Given the description of an element on the screen output the (x, y) to click on. 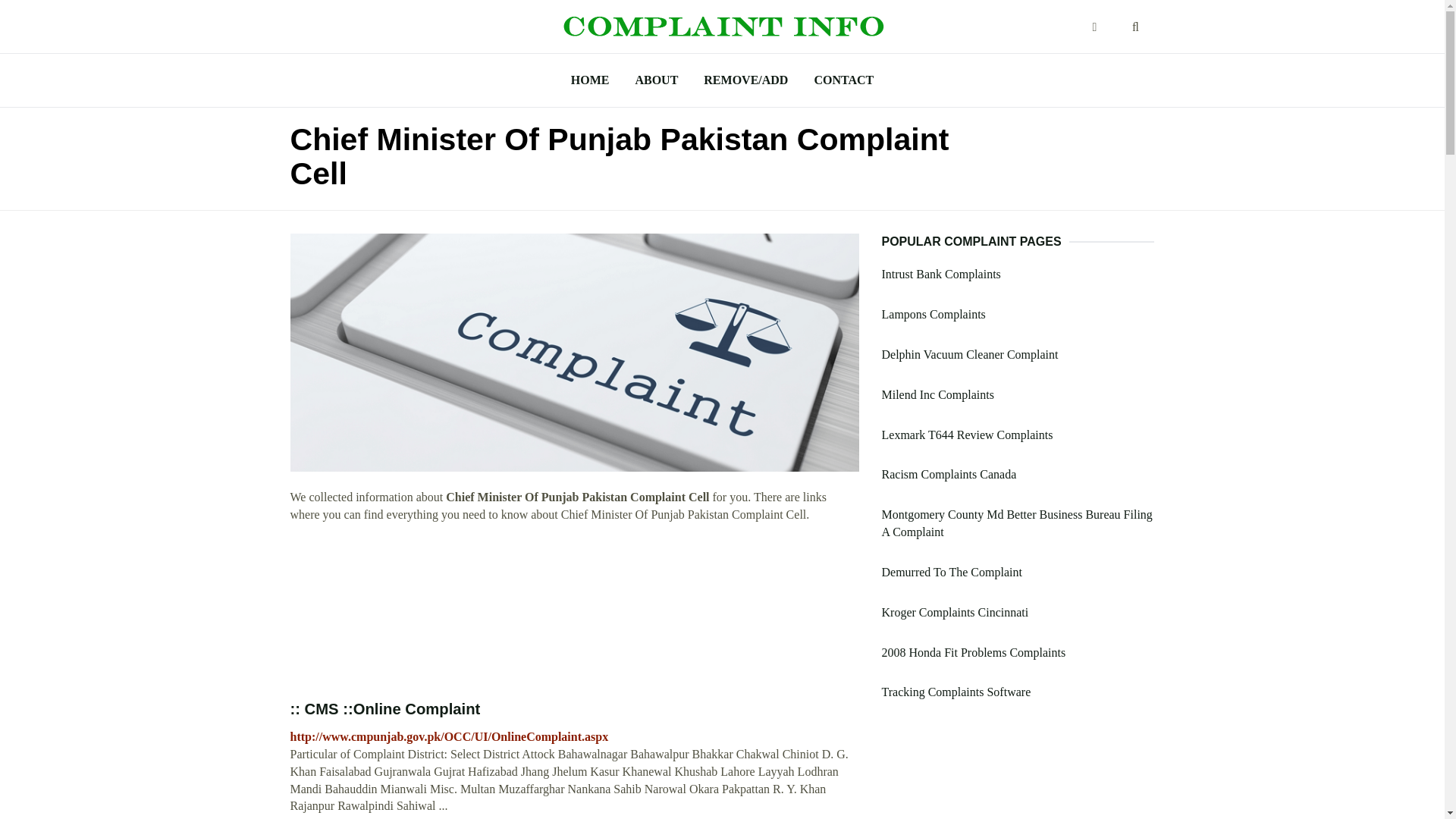
ABOUT (655, 80)
HOME (590, 80)
Advertisement (574, 611)
Advertisement (1017, 771)
:: CMS ::Online Complaint (384, 709)
CONTACT (843, 80)
